Given the description of an element on the screen output the (x, y) to click on. 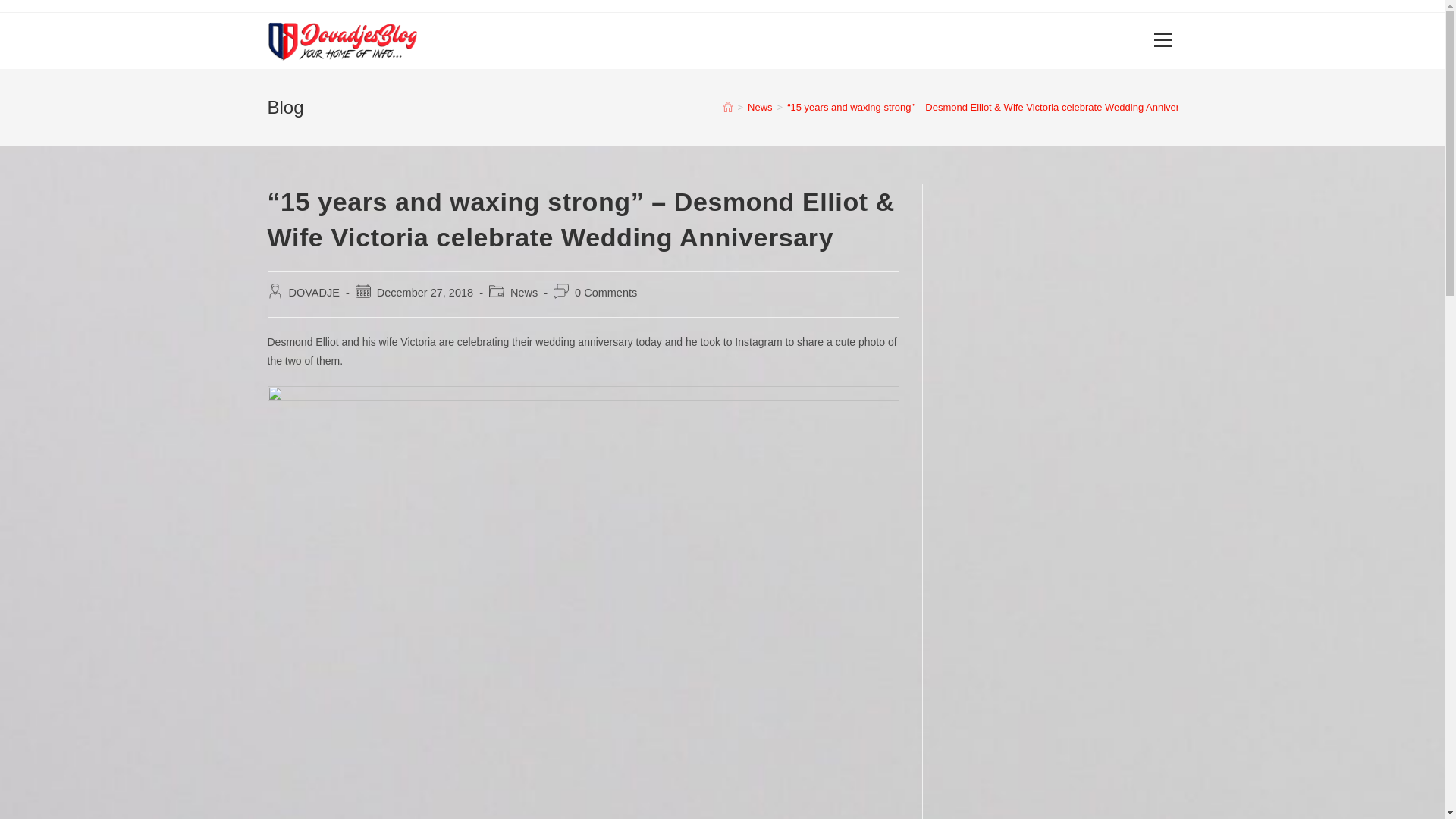
View website Menu (1162, 41)
DOVADJE (313, 292)
News (524, 292)
News (760, 107)
Posts by DOVADJE (313, 292)
0 Comments (606, 292)
